Given the description of an element on the screen output the (x, y) to click on. 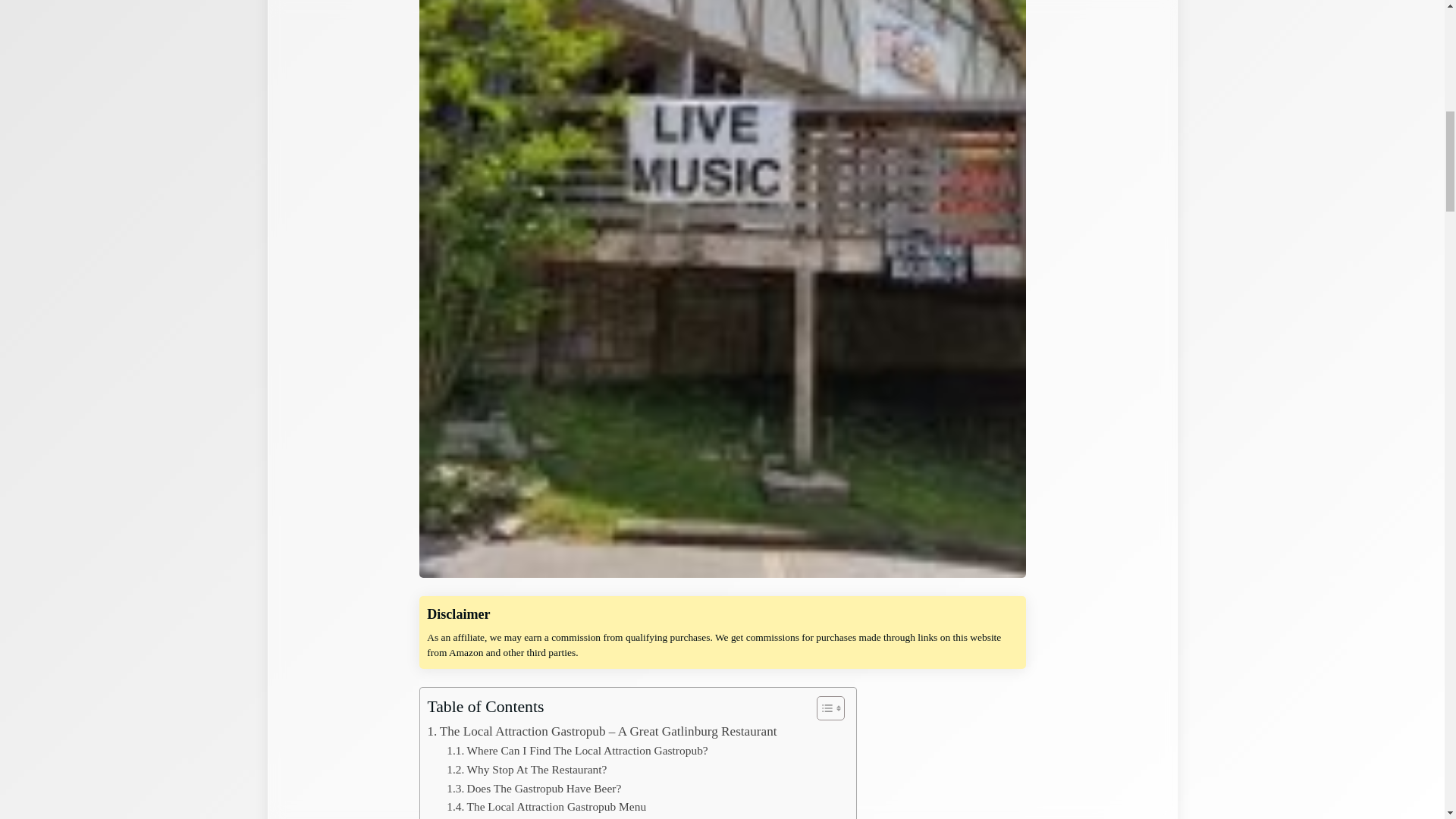
Why Stop At The Restaurant? (526, 769)
The Local Attraction Gastropub Menu (546, 806)
Does The Gastropub Have Beer? (533, 788)
Why Stop At The Restaurant? (526, 769)
Does The Gastropub Have Beer? (533, 788)
The Local Attraction Gastropub Menu (546, 806)
Does The Location Offer Anything Extra? (554, 817)
Where Can I Find The Local Attraction Gastropub? (576, 751)
Does The Location Offer Anything Extra? (554, 817)
